Given the description of an element on the screen output the (x, y) to click on. 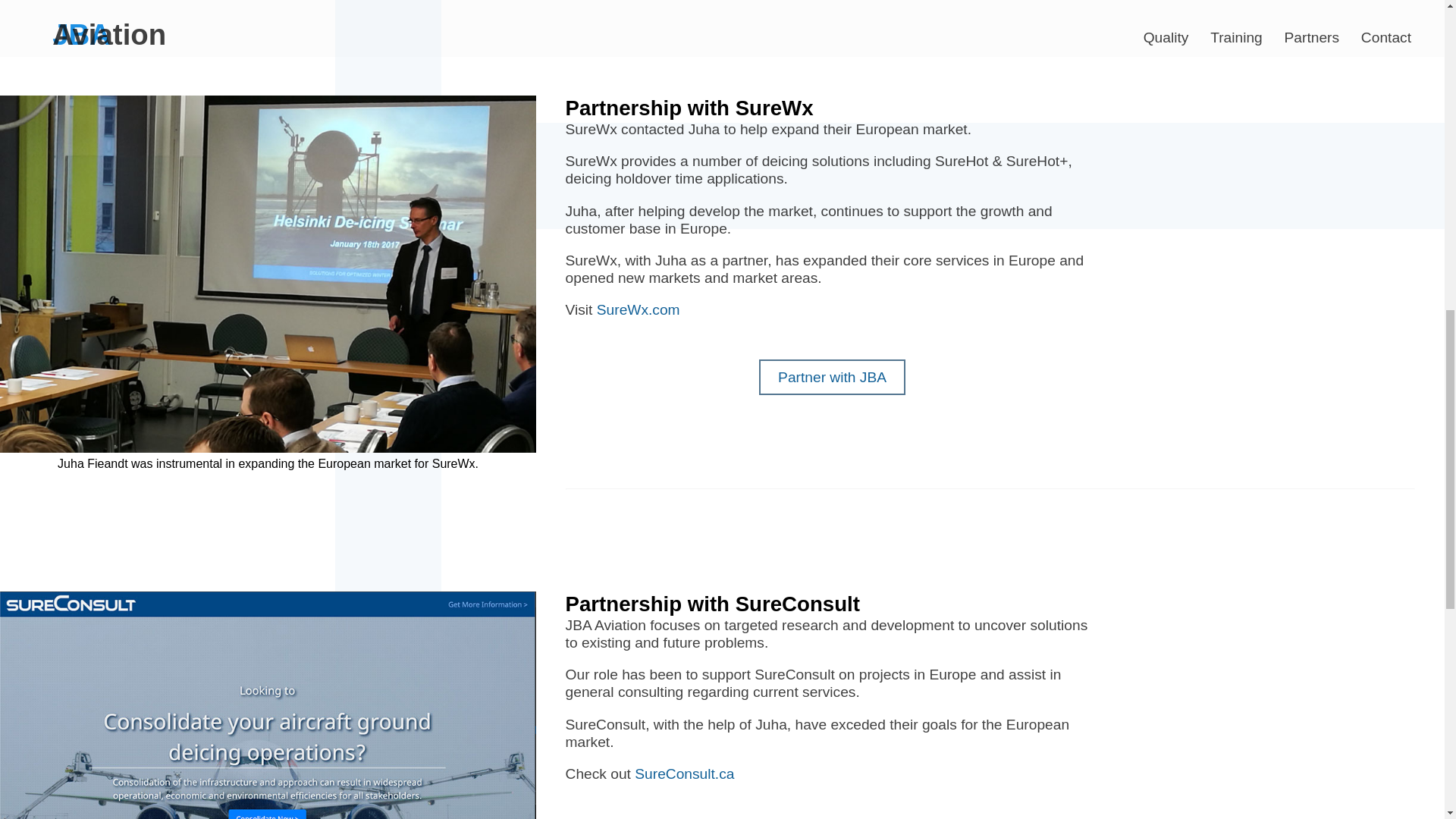
Partner with JBA (831, 376)
SureWx.com (637, 309)
SureConsult.ca (683, 773)
